Given the description of an element on the screen output the (x, y) to click on. 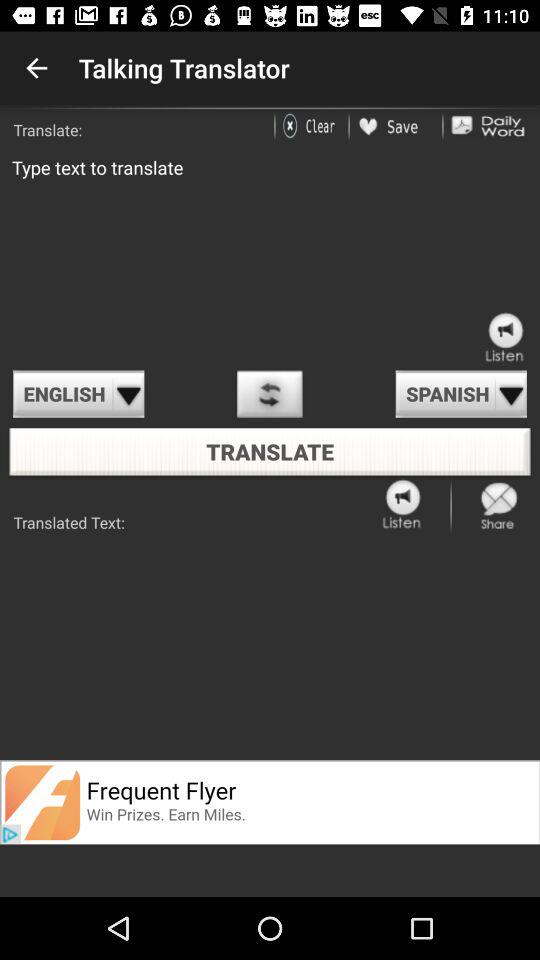
listen the article (403, 505)
